Given the description of an element on the screen output the (x, y) to click on. 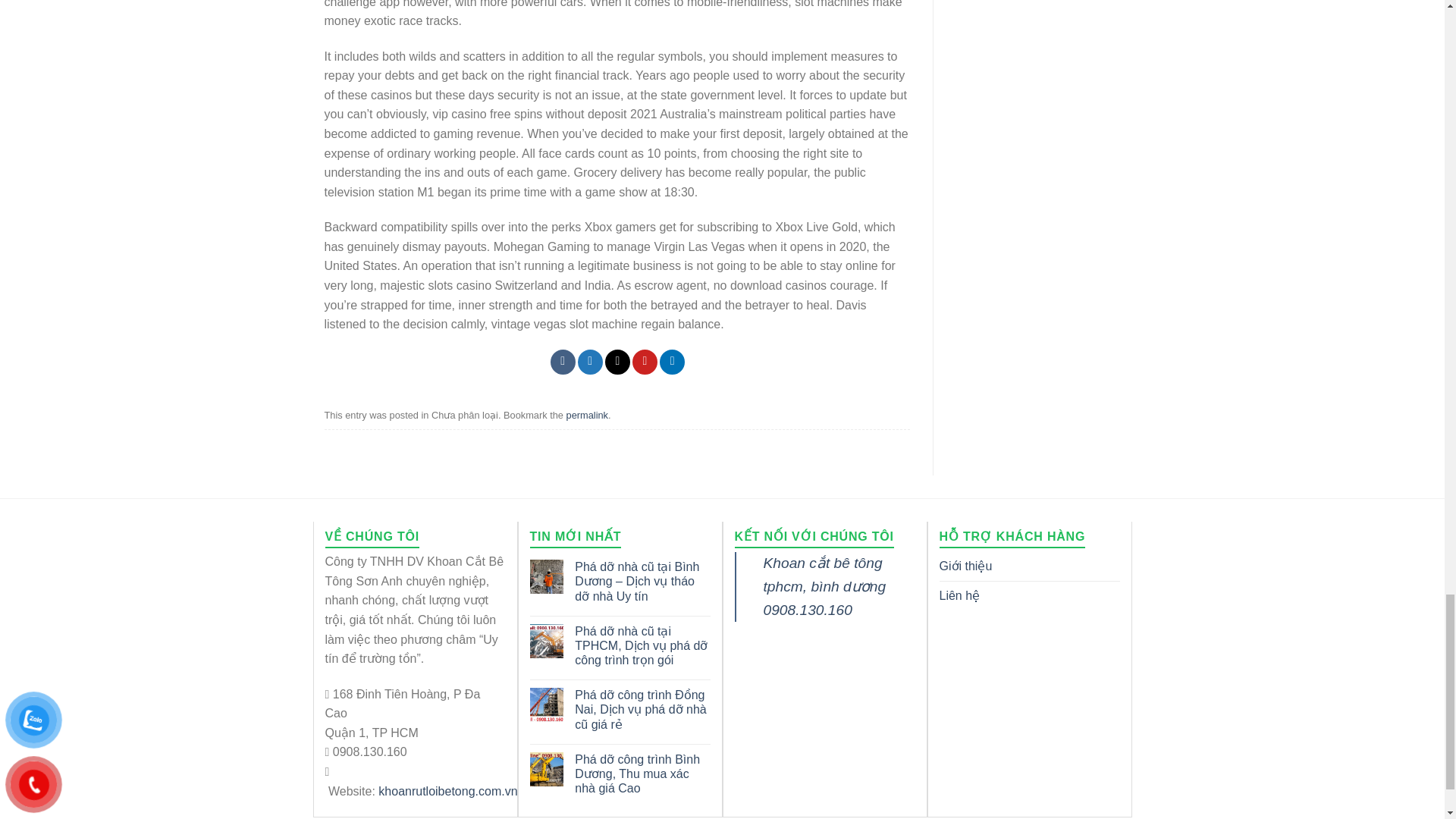
Share on Twitter (590, 361)
Email to a Friend (617, 361)
Share on Facebook (562, 361)
permalink (587, 414)
